Given the description of an element on the screen output the (x, y) to click on. 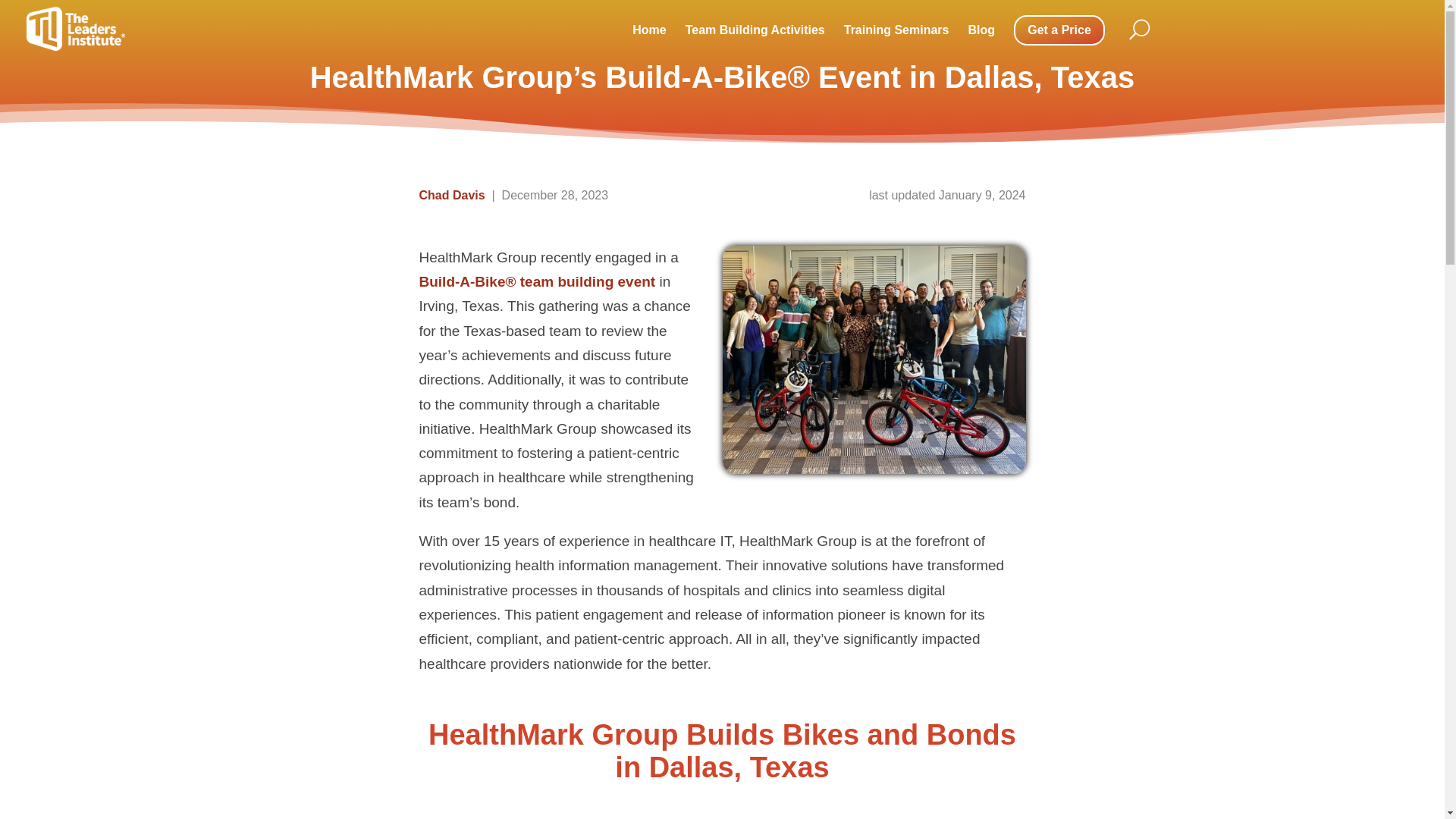
Team Building Activities (755, 30)
Team Building Activities (755, 30)
Get a Price (1059, 30)
Training Seminars (896, 30)
Chad Davis (451, 195)
Submit (1144, 92)
